Given the description of an element on the screen output the (x, y) to click on. 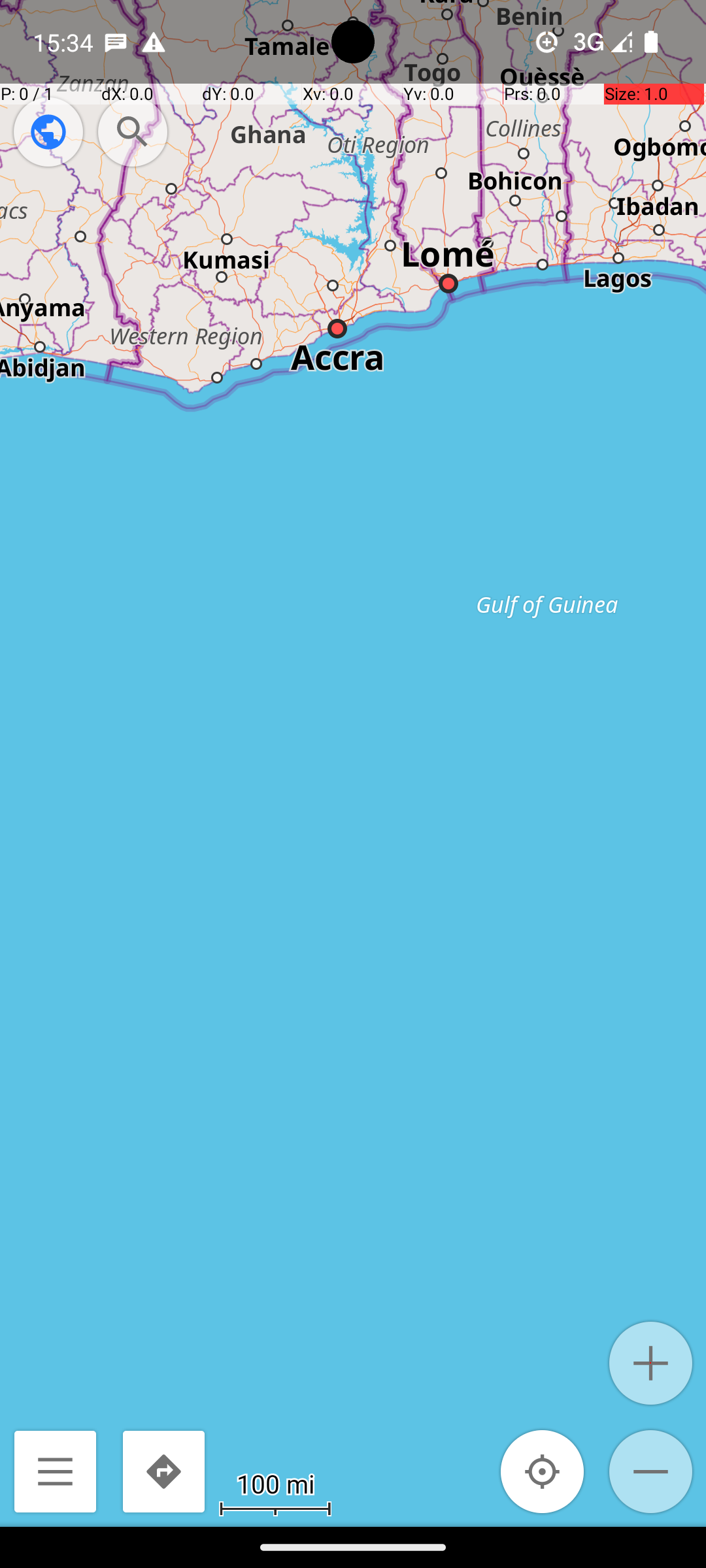
100 mi Element type: android.widget.TextView (274, 1483)
